Given the description of an element on the screen output the (x, y) to click on. 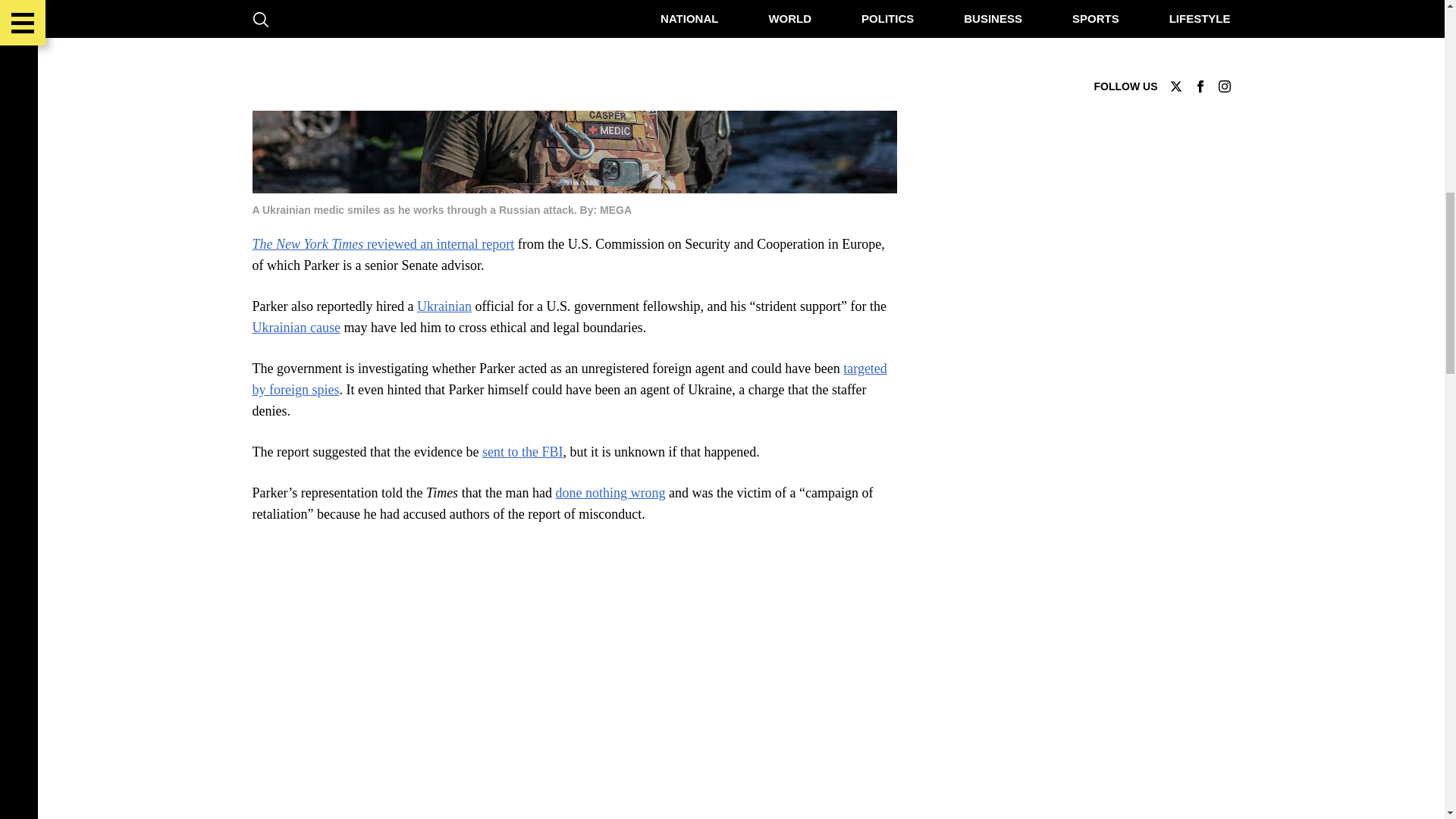
Ukrainian (443, 305)
Ukrainian cause (295, 327)
The New York Times reviewed an internal report (382, 243)
sent to the FBI (522, 451)
targeted by foreign spies (568, 379)
done nothing wrong (610, 492)
